Given the description of an element on the screen output the (x, y) to click on. 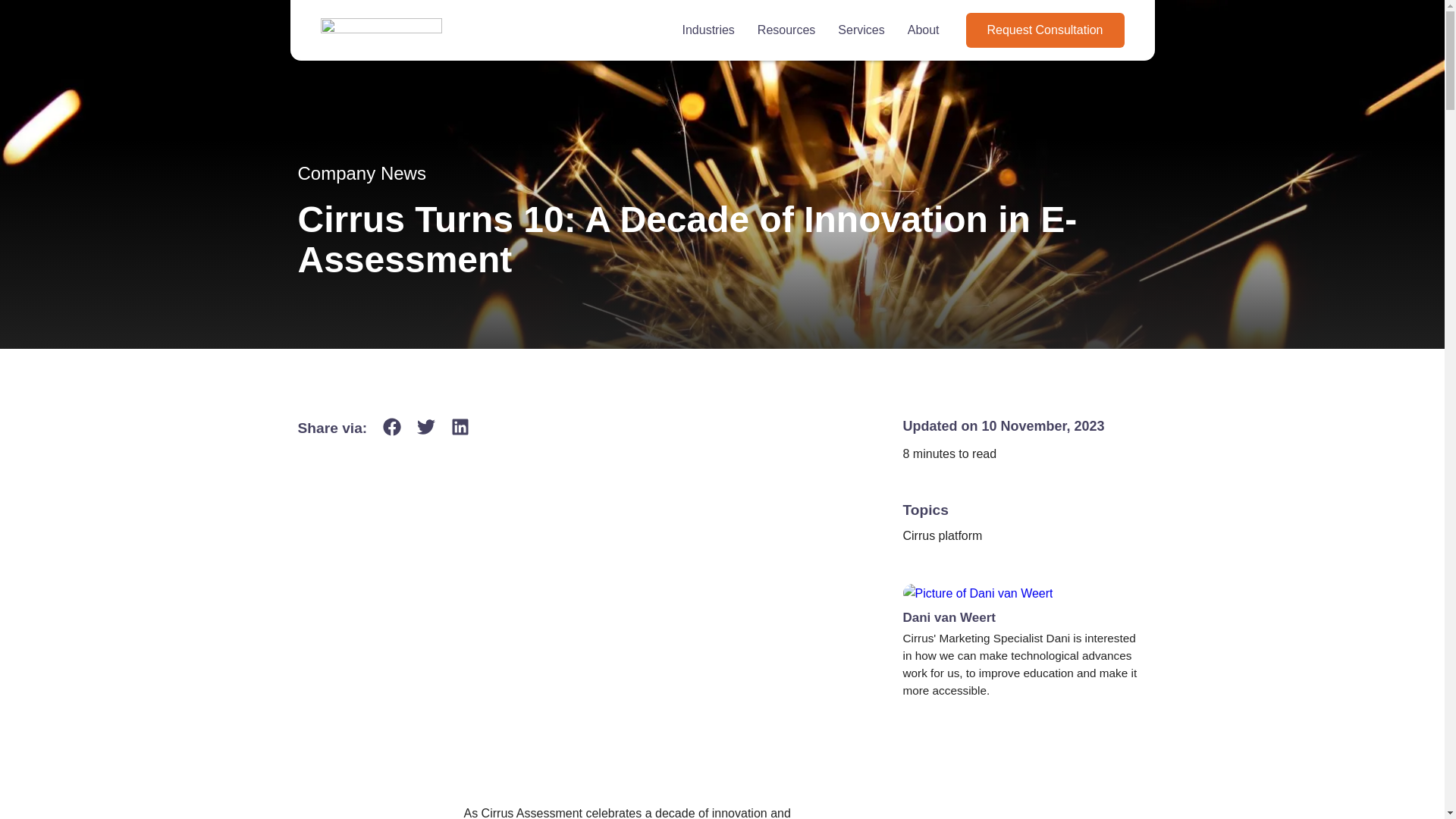
Industries (707, 30)
About (923, 30)
Cirrus platform (941, 535)
Company News (361, 172)
Resources (786, 30)
Services (860, 30)
Request Consultation (1045, 30)
